Given the description of an element on the screen output the (x, y) to click on. 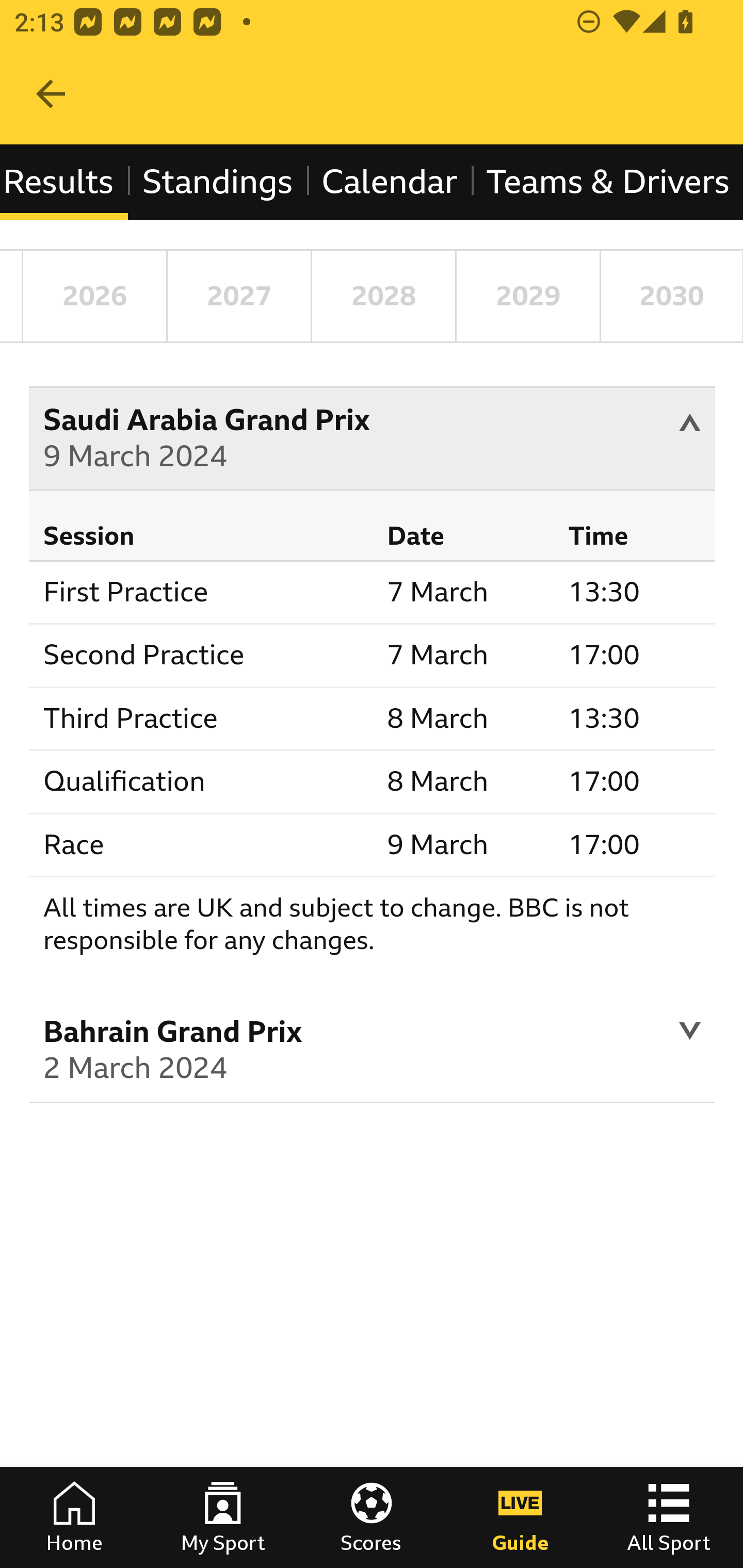
Navigate up (50, 93)
Results (65, 181)
Standings (217, 181)
Calendar (389, 181)
Teams & Drivers (607, 181)
Bahrain Grand Prix, Bahrain IC 2 March 2024 (372, 1052)
Home (74, 1517)
My Sport (222, 1517)
Scores (371, 1517)
All Sport (668, 1517)
